Given the description of an element on the screen output the (x, y) to click on. 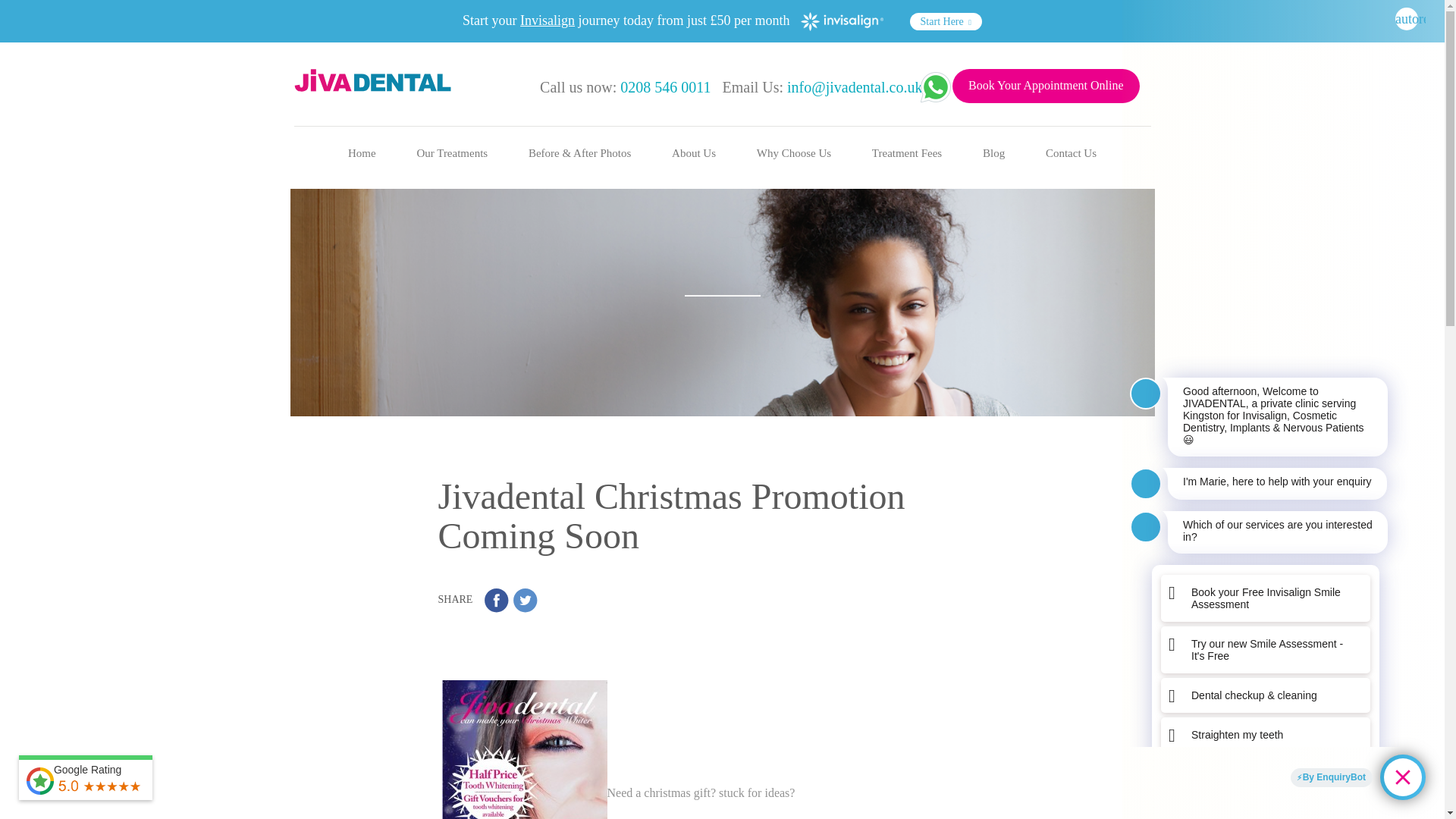
Facebook Share (496, 600)
Invisalign (547, 20)
Home (362, 153)
Book Your Appointment Online (1045, 85)
Twitter Share (525, 600)
Start Here (945, 21)
Our Treatments (451, 153)
Why Choose Us (793, 153)
Treatment Fees (906, 153)
Blog (994, 153)
Contact Us (1071, 153)
jivadental-christmas (524, 749)
About Us (693, 153)
